Given the description of an element on the screen output the (x, y) to click on. 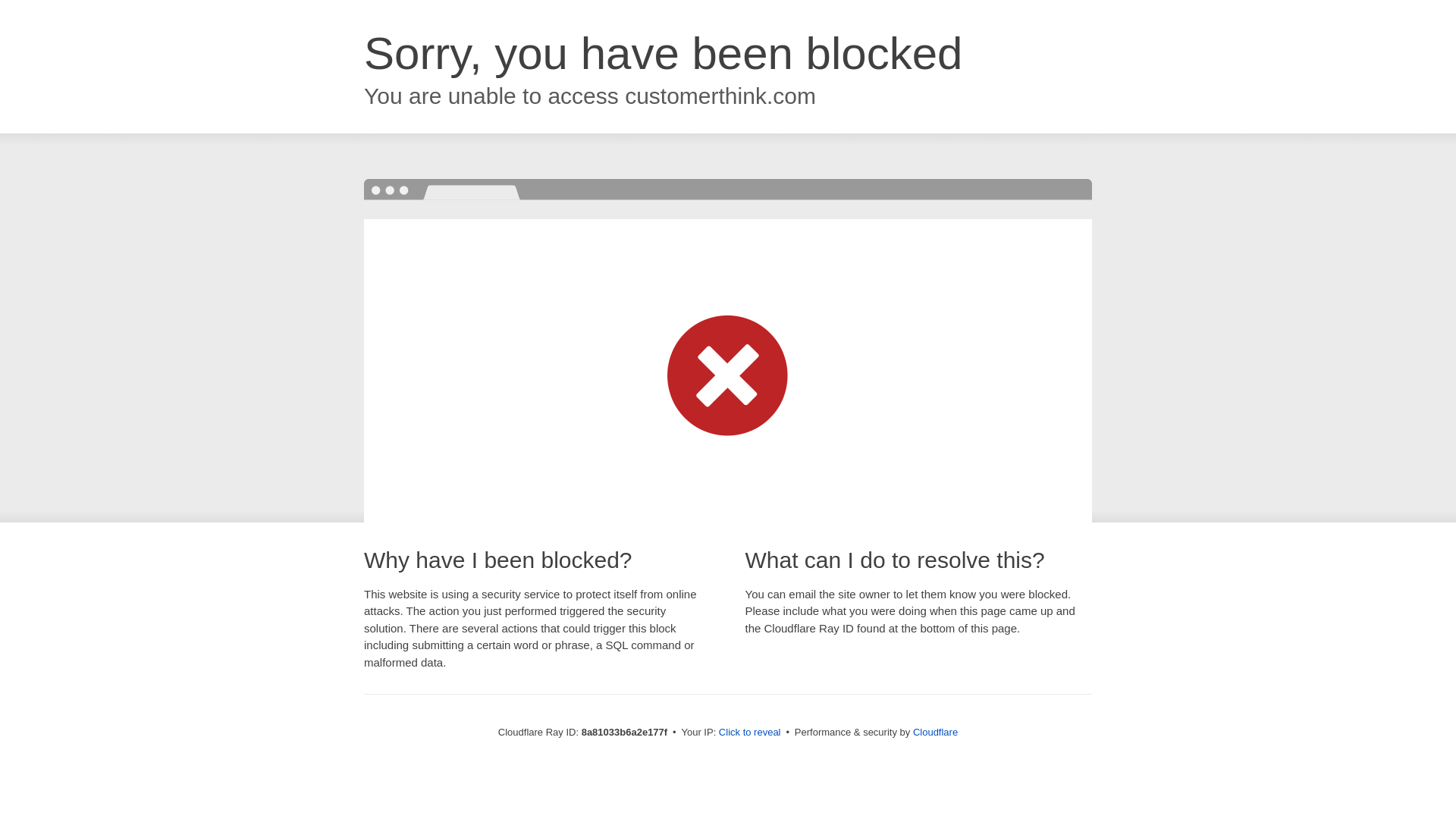
Cloudflare (935, 731)
Click to reveal (749, 732)
